Given the description of an element on the screen output the (x, y) to click on. 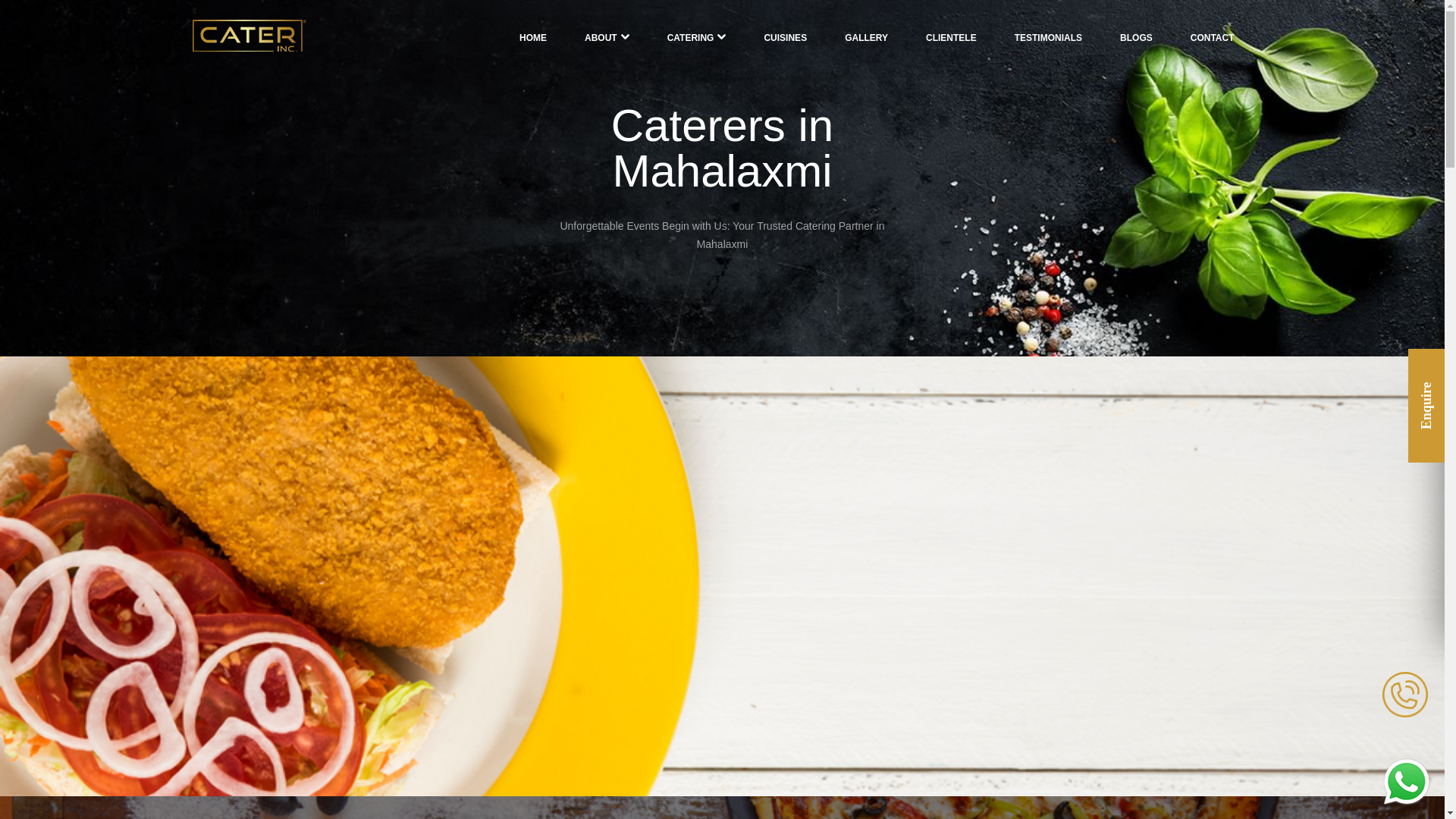
Yacht Party Catering (612, 723)
House Party Catering (614, 653)
Birthday Party Catering (619, 676)
Corporate Catering (608, 629)
TESTIMONIALS (1047, 37)
Outdoor Events Catering (622, 699)
